Given the description of an element on the screen output the (x, y) to click on. 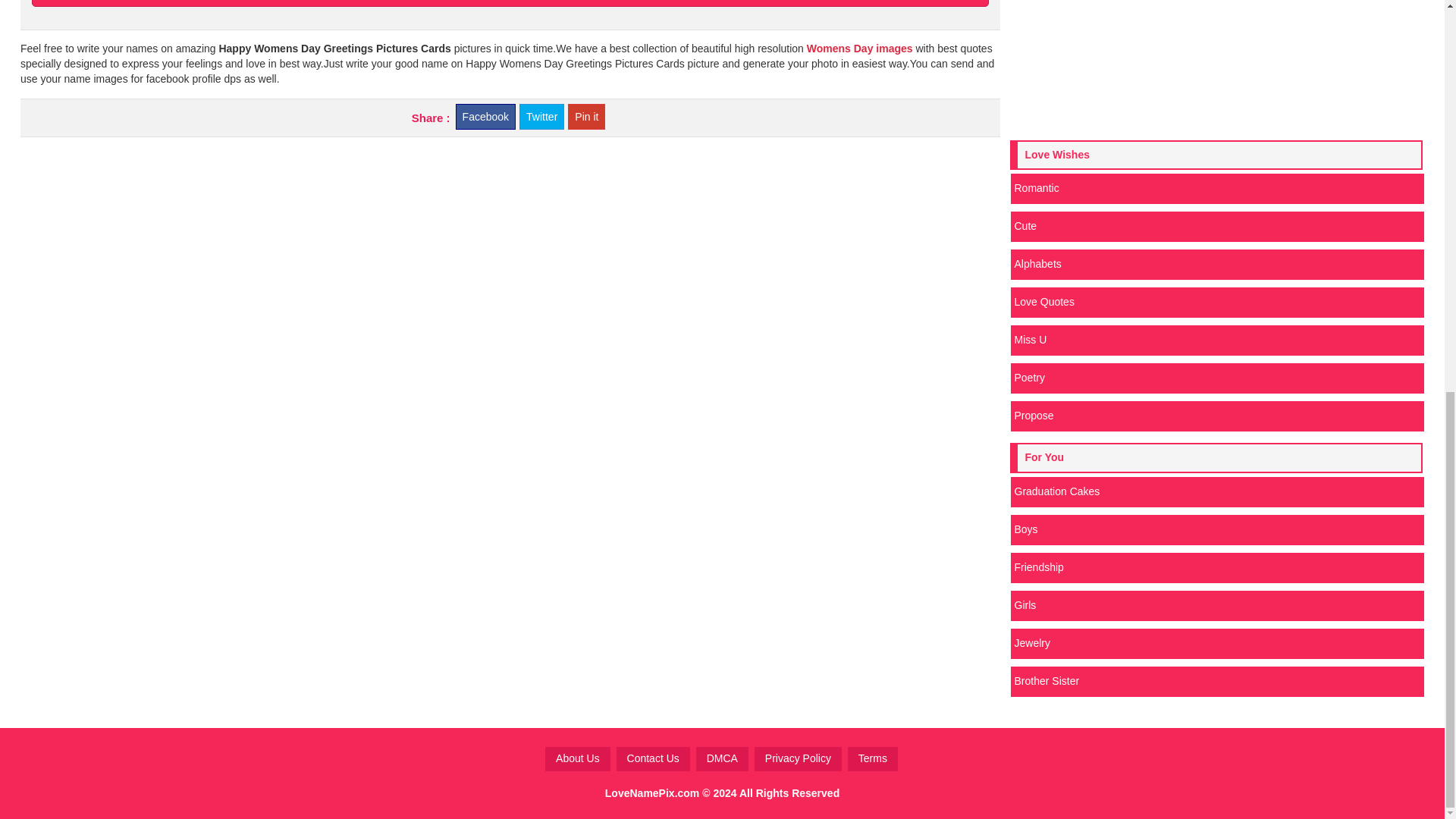
Facebook (485, 116)
Cute (1216, 226)
Propose (1216, 416)
Friendship (1216, 567)
Miss U Name Images (1216, 340)
Alphabets (1216, 264)
Romantic Couple Name Images (1216, 188)
Privacy Policy (797, 758)
Pin it (586, 116)
Poetry Name Images (1216, 378)
About Us (577, 758)
Love Quotes (1216, 302)
Jewelry (1216, 643)
Contact Us (652, 758)
